Given the description of an element on the screen output the (x, y) to click on. 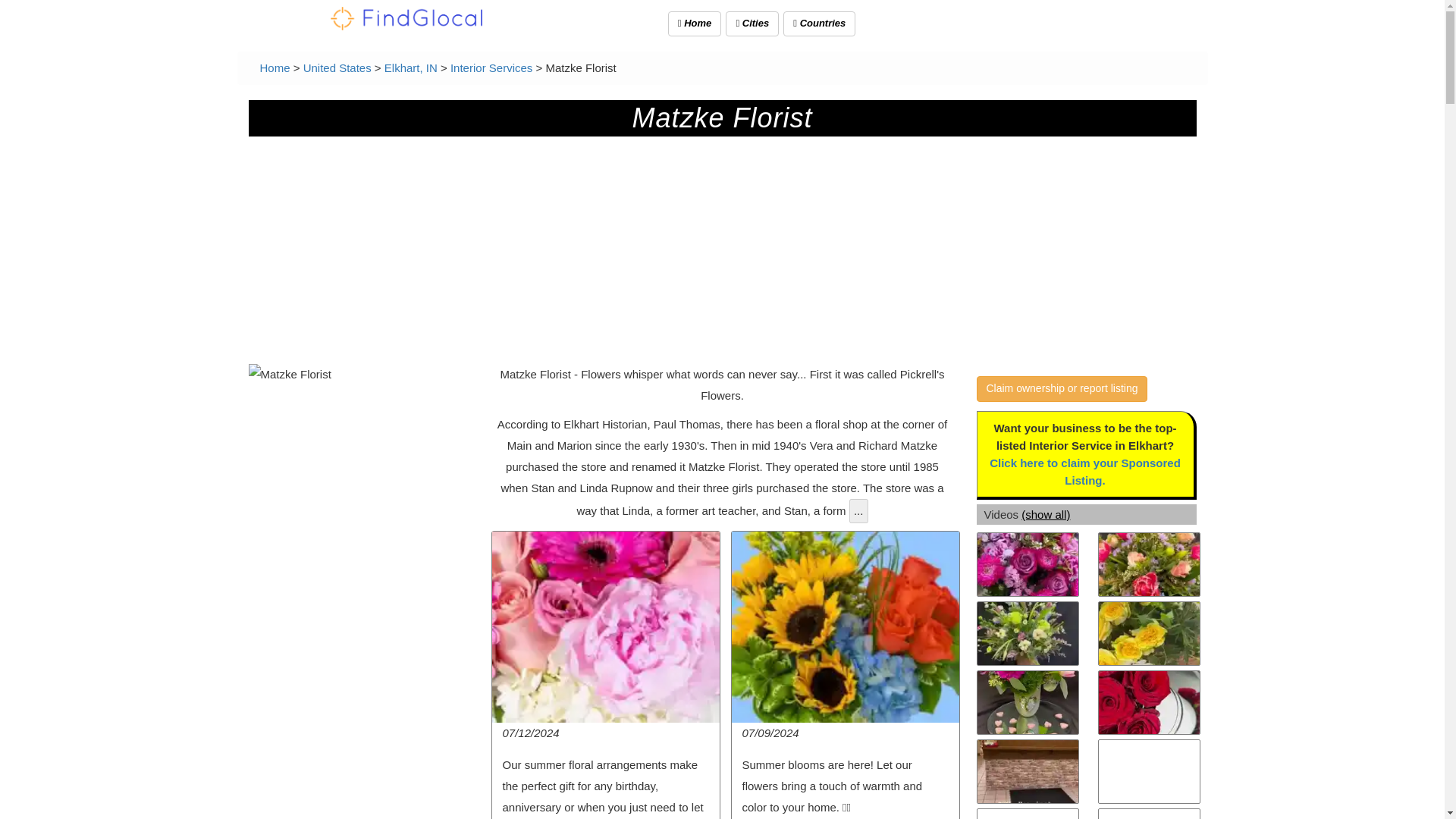
United States (336, 67)
Home (274, 67)
Countries (819, 23)
Home (274, 67)
Claim ownership or report listing (1062, 388)
Click here to claim your Sponsored Listing. (1085, 471)
Home (694, 23)
Interior Services (490, 67)
Elkhart, IN (411, 67)
Cities (751, 23)
